Given the description of an element on the screen output the (x, y) to click on. 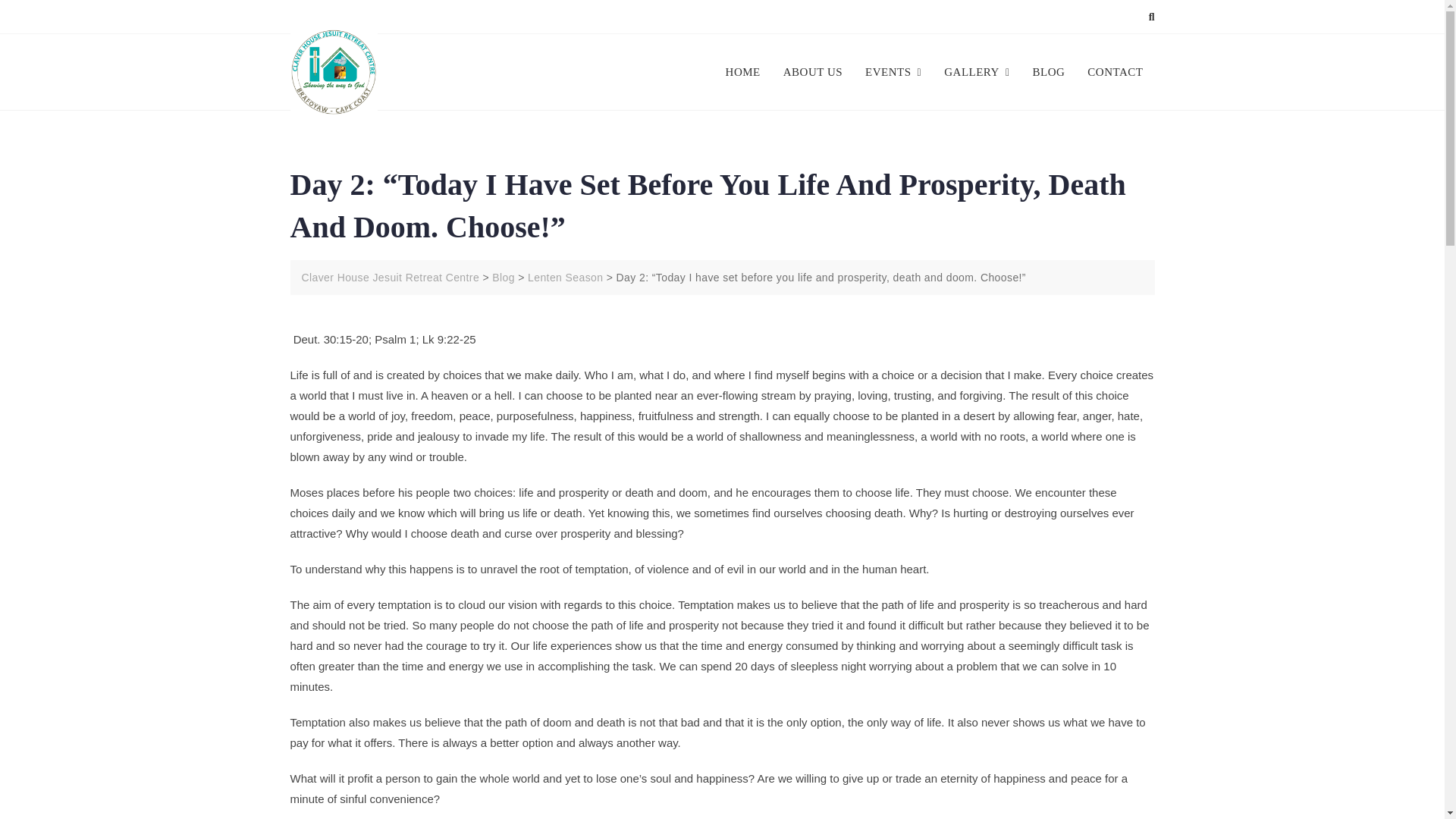
Go to Claver House Jesuit Retreat Centre. (390, 277)
ABOUT US (812, 72)
GALLERY (976, 72)
CONTACT (1114, 72)
BLOG (1049, 72)
EVENTS (893, 72)
HOME (748, 72)
Go to Blog. (503, 277)
Go to the Lenten Season Category archives. (564, 277)
